Given the description of an element on the screen output the (x, y) to click on. 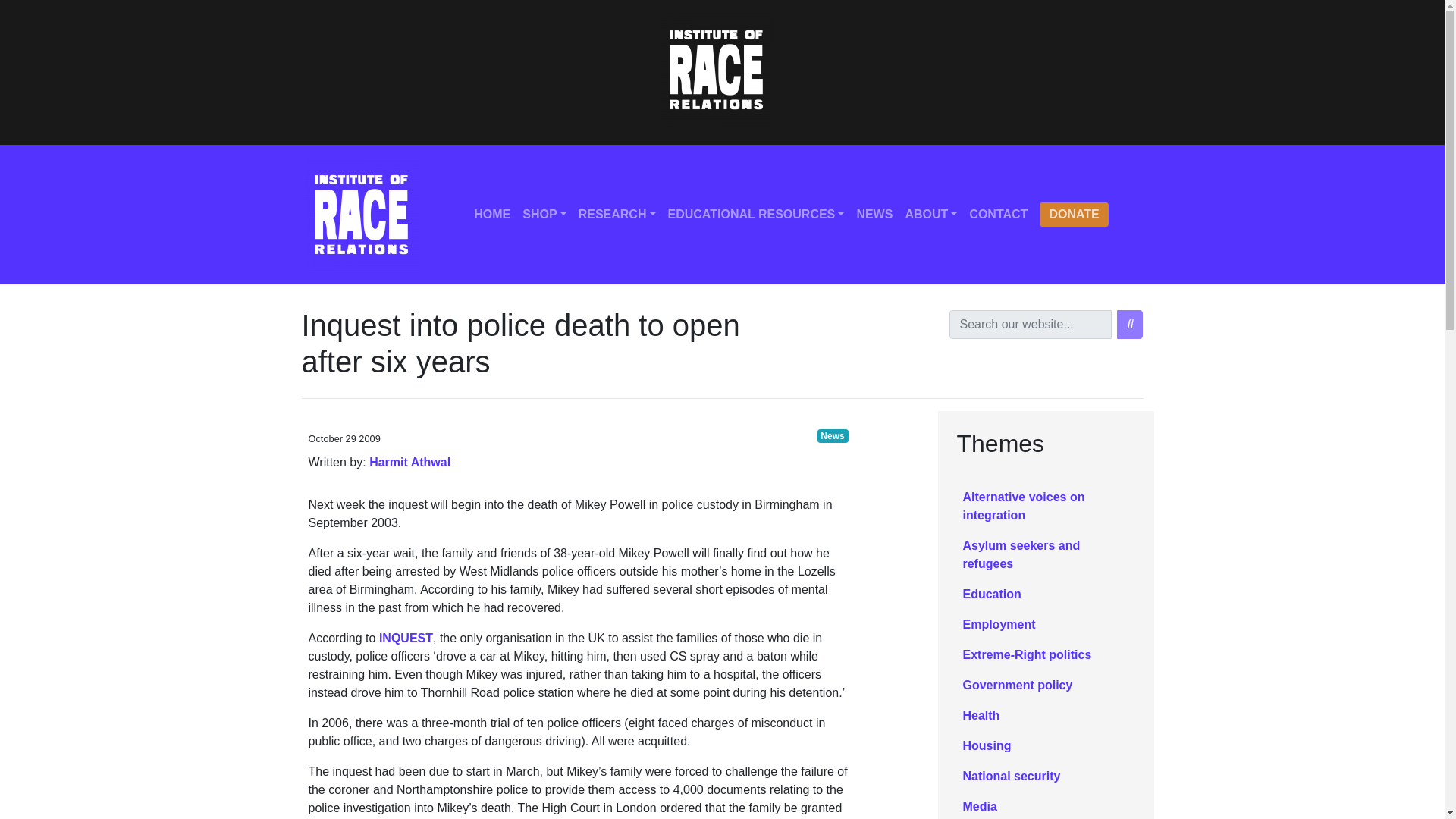
Research (617, 214)
DONATE (1073, 214)
SHOP (544, 214)
ABOUT (930, 214)
Home (491, 214)
Institute of Race Relations (361, 214)
Shop (544, 214)
CONTACT (997, 214)
EDUCATIONAL RESOURCES (756, 214)
Institute of Race Relations (716, 69)
